Given the description of an element on the screen output the (x, y) to click on. 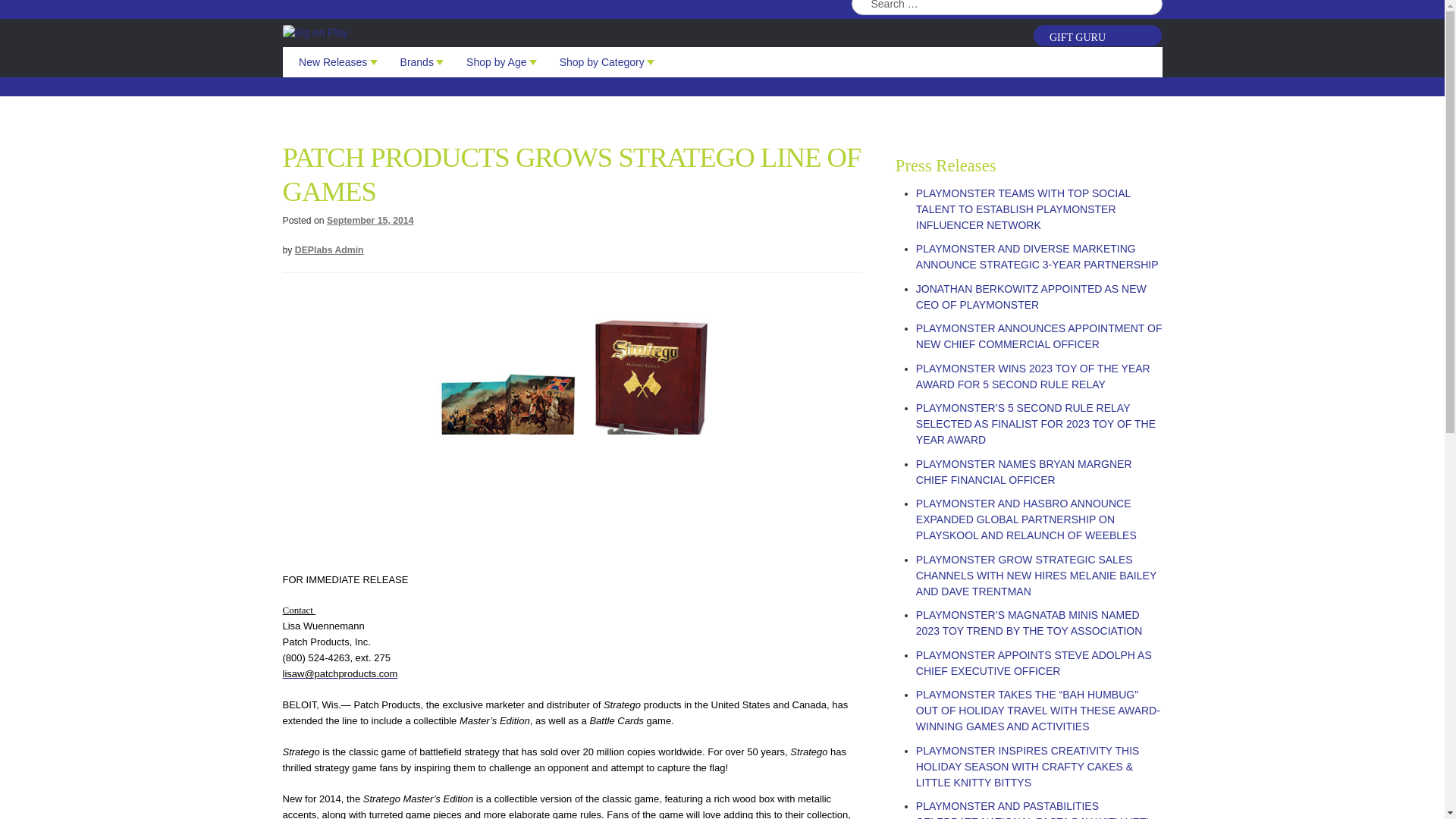
Search (1149, 4)
Shop by Age (496, 61)
CUSTOMER SERVICE (1124, 3)
playmonster brand (606, 32)
Brands (417, 61)
Search (1149, 4)
New Releases (332, 61)
